Given the description of an element on the screen output the (x, y) to click on. 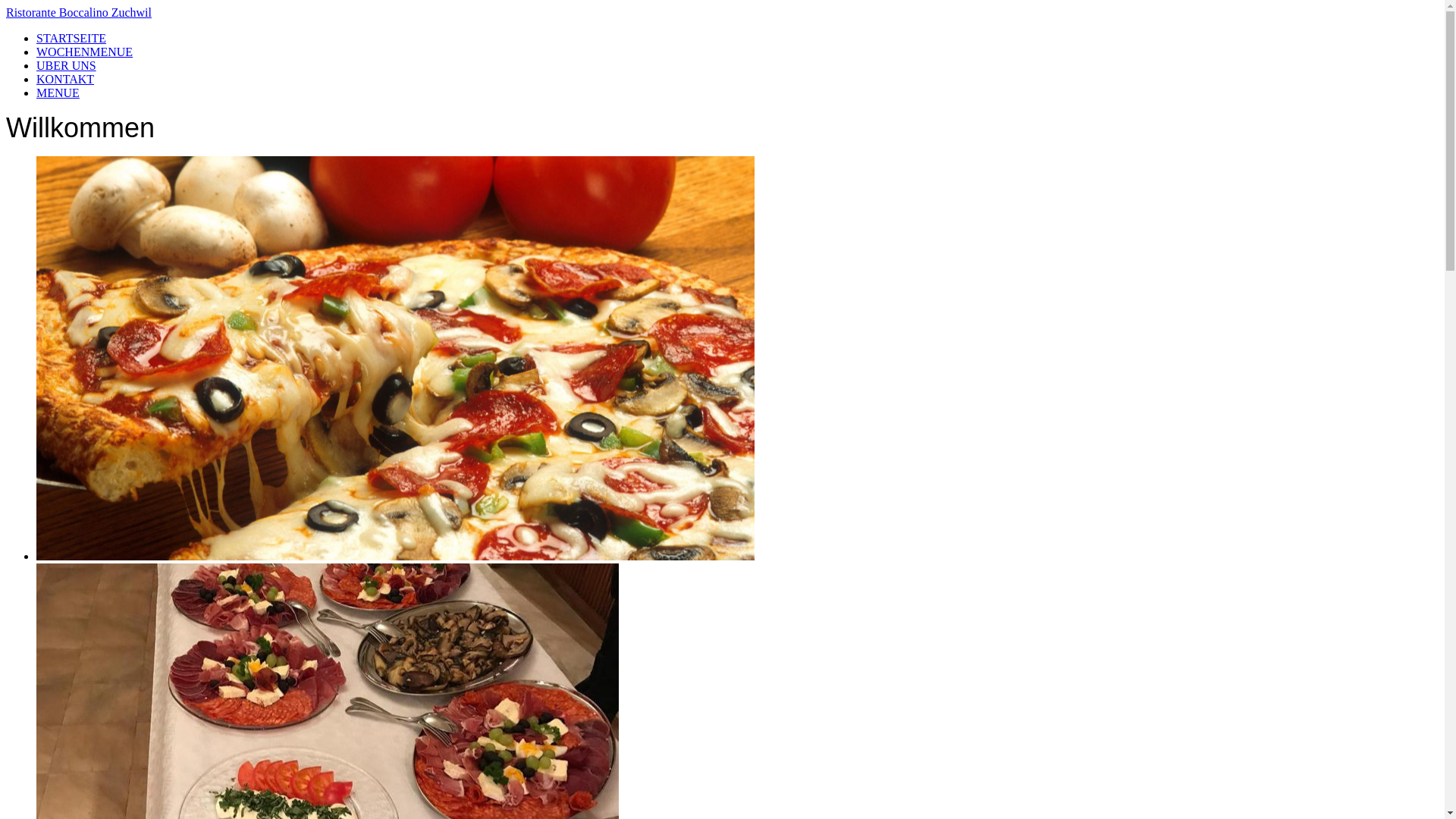
MENUE Element type: text (57, 92)
Ristorante Boccalino Zuchwil Element type: text (722, 12)
UBER UNS Element type: text (66, 65)
STARTSEITE Element type: text (71, 37)
WOCHENMENUE Element type: text (84, 51)
KONTAKT Element type: text (65, 78)
